Given the description of an element on the screen output the (x, y) to click on. 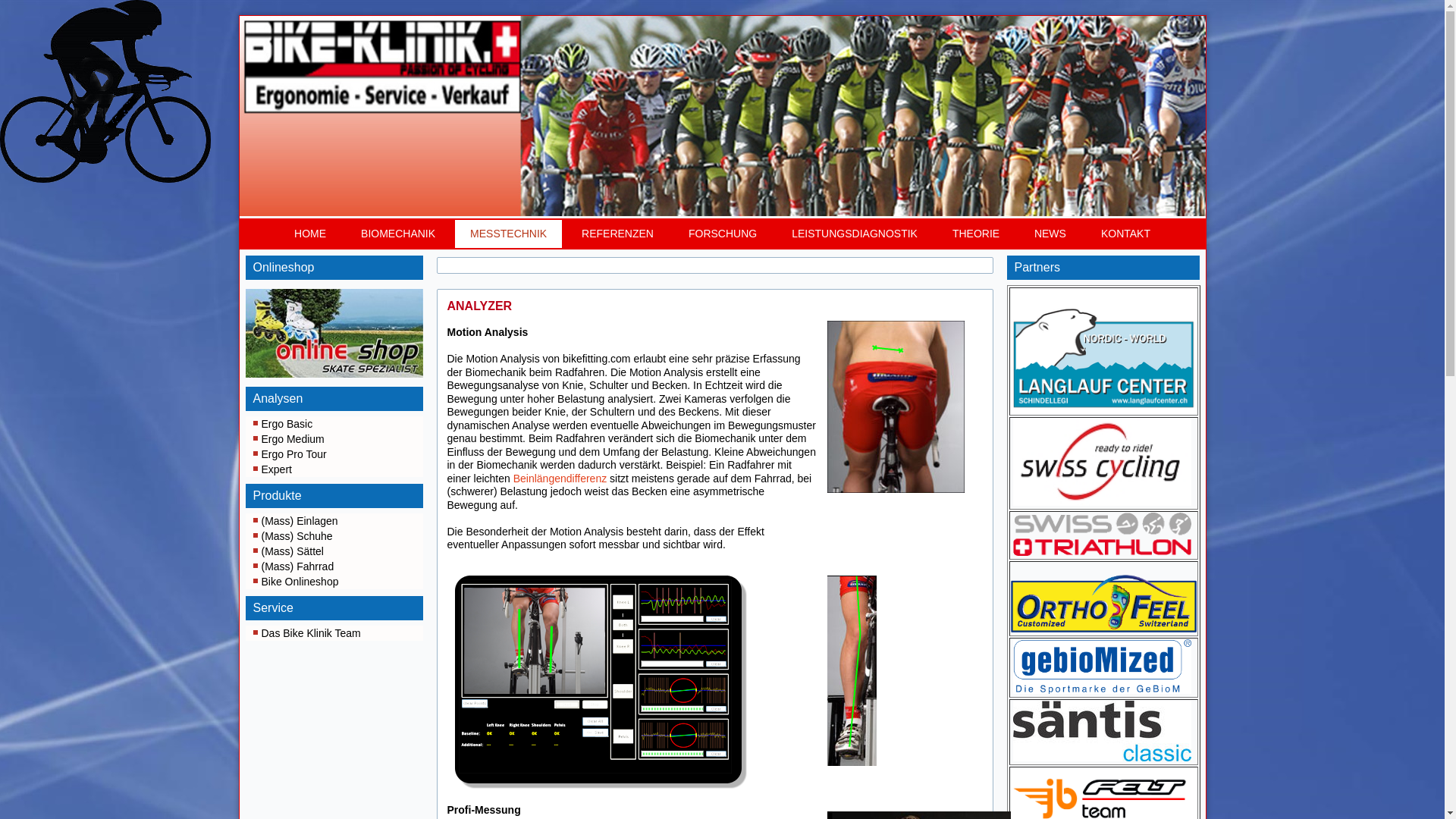
Bike Onlineshop Element type: text (334, 581)
FORSCHUNG Element type: text (722, 233)
LEISTUNGSDIAGNOSTIK Element type: text (854, 233)
HOME Element type: text (310, 233)
(Mass) Einlagen Element type: text (334, 520)
KONTAKT Element type: text (1125, 233)
NEWS Element type: text (1050, 233)
(Mass) Schuhe Element type: text (334, 535)
Das Bike Klinik Team Element type: text (334, 632)
BIOMECHANIK Element type: text (397, 233)
Ergo Medium Element type: text (334, 438)
Ergo Pro Tour Element type: text (334, 453)
Expert Element type: text (334, 468)
(Mass) Fahrrad Element type: text (334, 566)
THEORIE Element type: text (975, 233)
Ergo Basic Element type: text (334, 423)
REFERENZEN Element type: text (617, 233)
MESSTECHNIK Element type: text (508, 233)
